Given the description of an element on the screen output the (x, y) to click on. 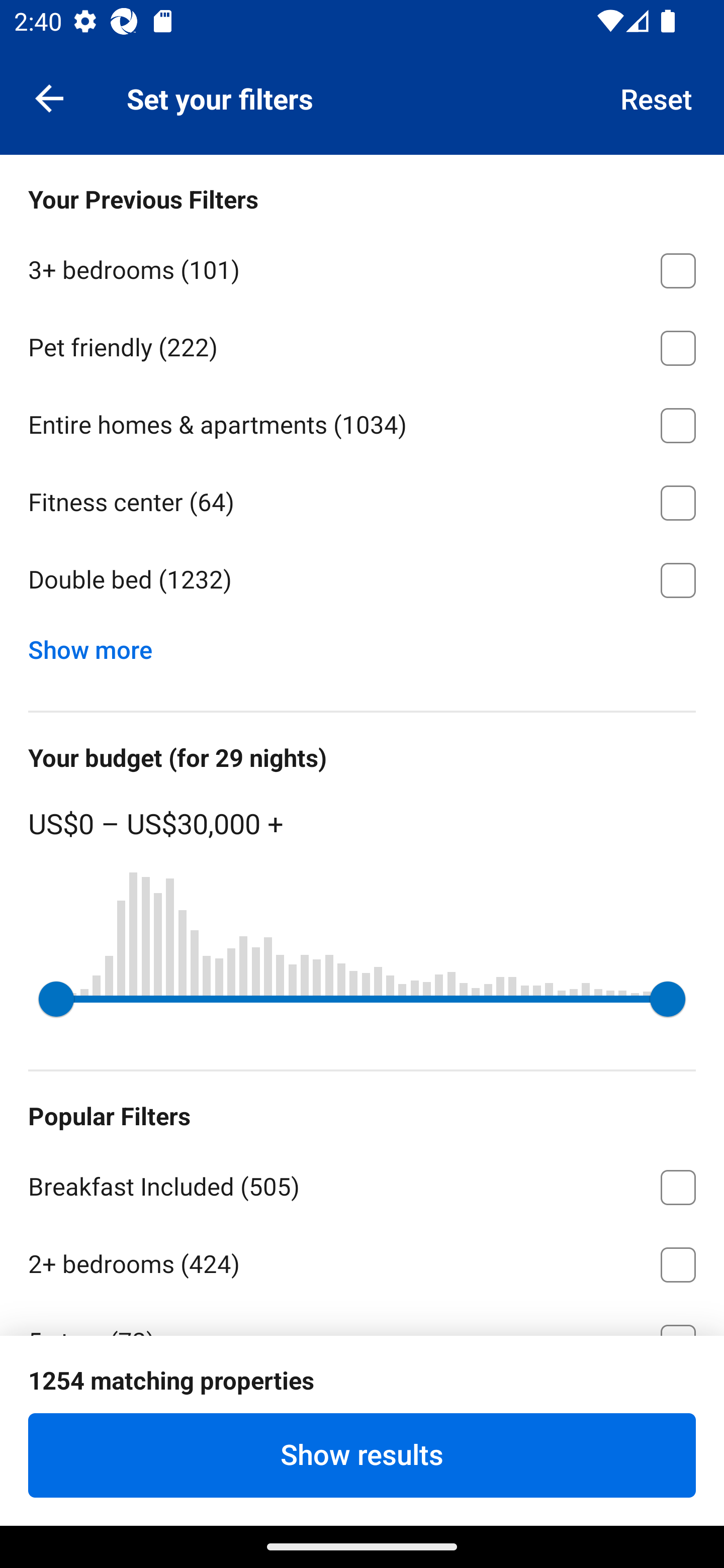
Navigate up (49, 97)
Reset (656, 97)
3+ bedrooms ⁦(101) (361, 266)
Pet friendly ⁦(222) (361, 344)
Entire homes & apartments ⁦(1034) (361, 422)
Fitness center ⁦(64) (361, 498)
Double bed ⁦(1232) (361, 579)
Show more (97, 645)
0.0 Range start,US$0 30000.0 Range end,US$30,000 + (361, 998)
Breakfast Included ⁦(505) (361, 1183)
2+ bedrooms ⁦(424) (361, 1261)
Show results (361, 1454)
